Given the description of an element on the screen output the (x, y) to click on. 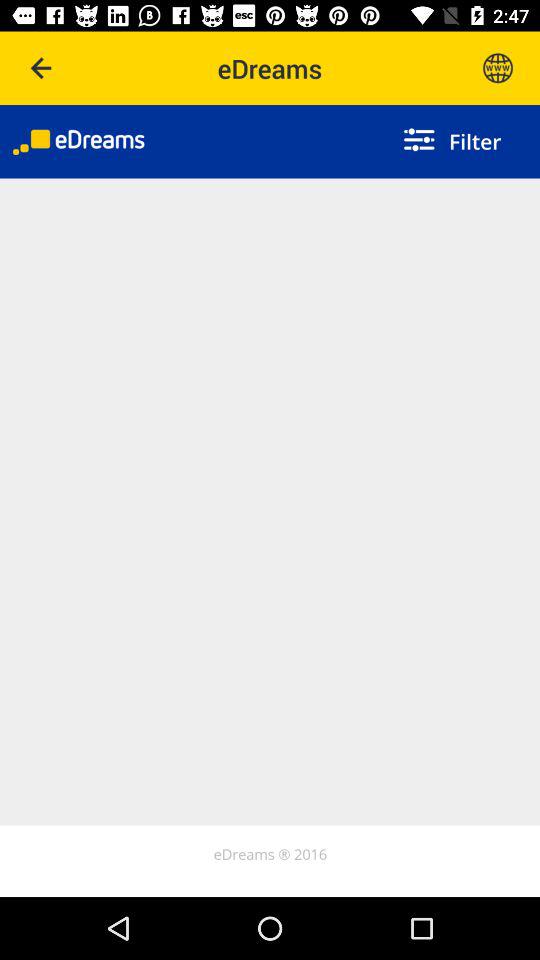
previous button (42, 68)
